Given the description of an element on the screen output the (x, y) to click on. 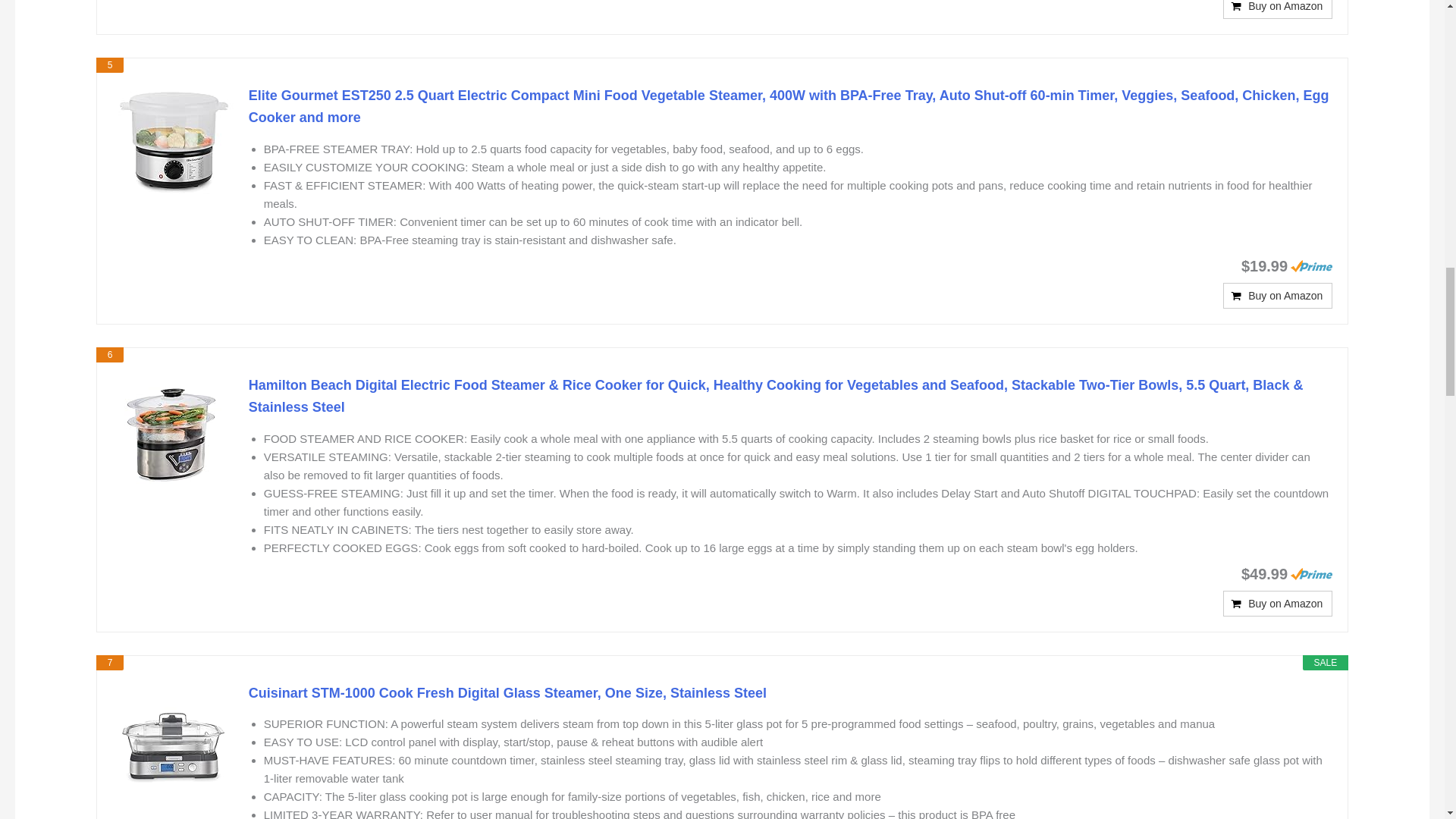
Buy on Amazon (1277, 9)
Buy on Amazon (1277, 603)
Buy on Amazon (1277, 295)
Buy on Amazon (1277, 9)
